Given the description of an element on the screen output the (x, y) to click on. 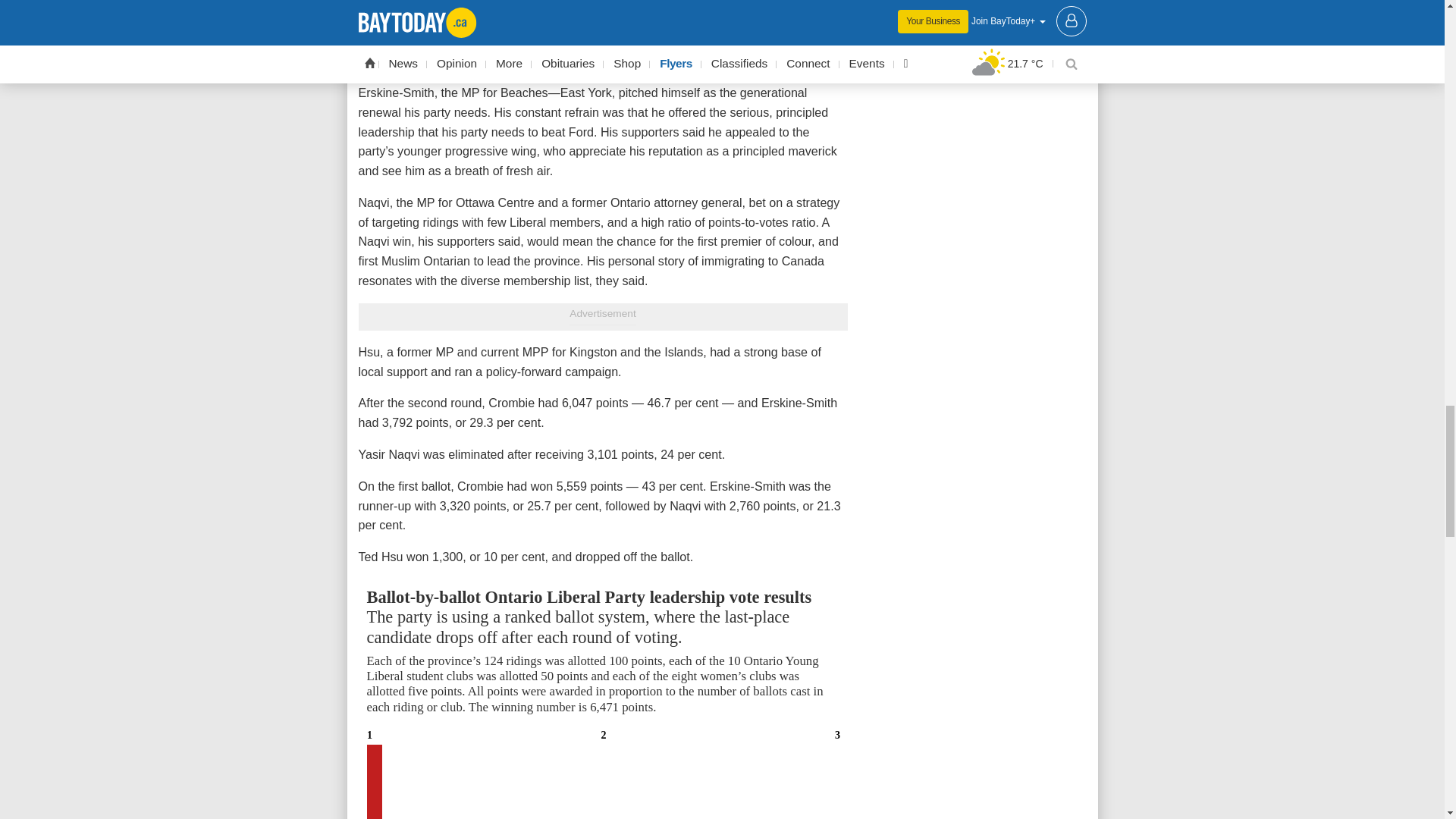
Interactive or visual content (602, 699)
